Given the description of an element on the screen output the (x, y) to click on. 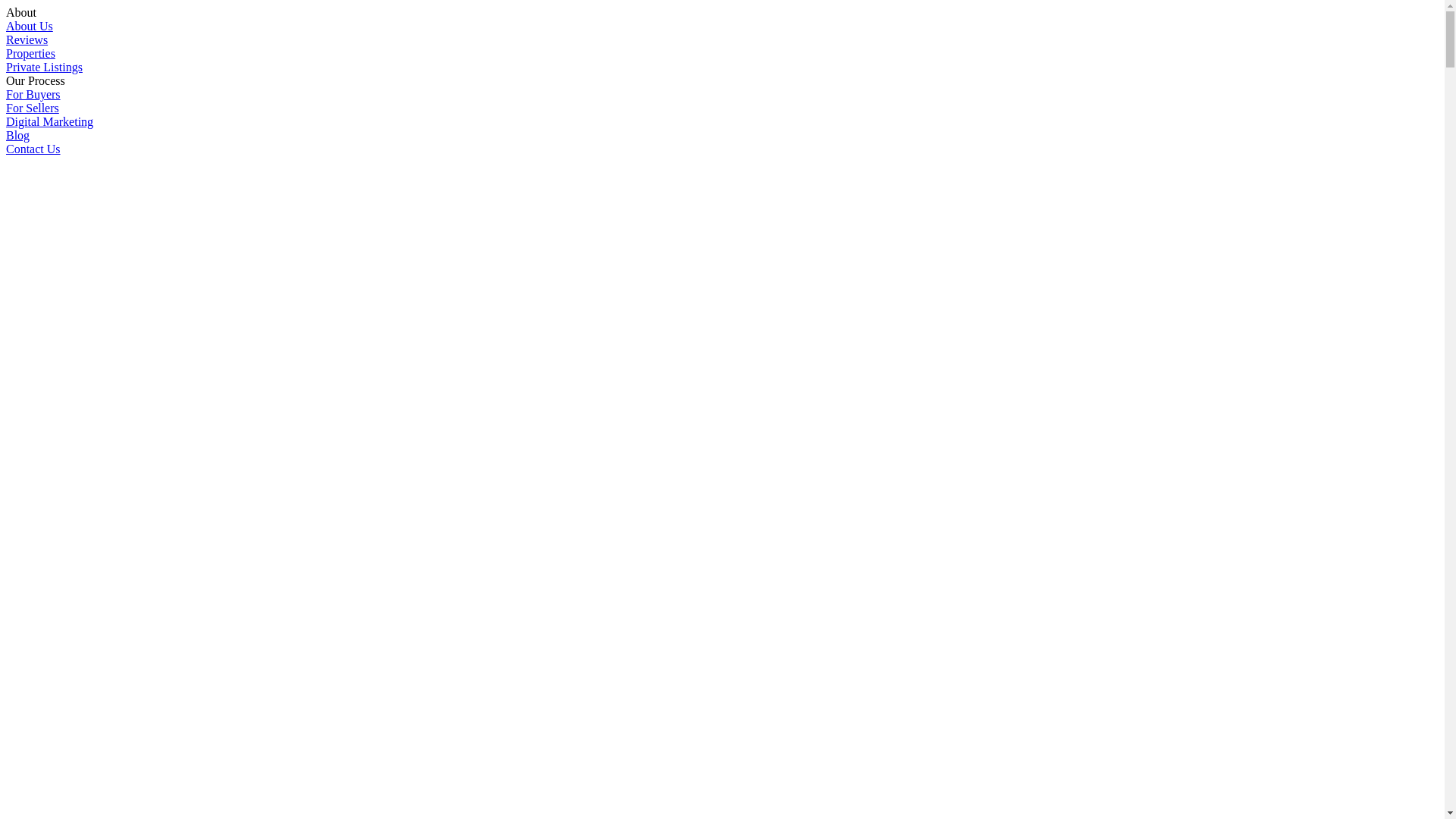
About Us Element type: text (29, 25)
Digital Marketing Element type: text (49, 121)
Properties Element type: text (30, 53)
Blog Element type: text (17, 134)
For Buyers Element type: text (33, 93)
Reviews Element type: text (26, 39)
Private Listings Element type: text (44, 66)
Contact Us Element type: text (33, 148)
For Sellers Element type: text (32, 107)
